Given the description of an element on the screen output the (x, y) to click on. 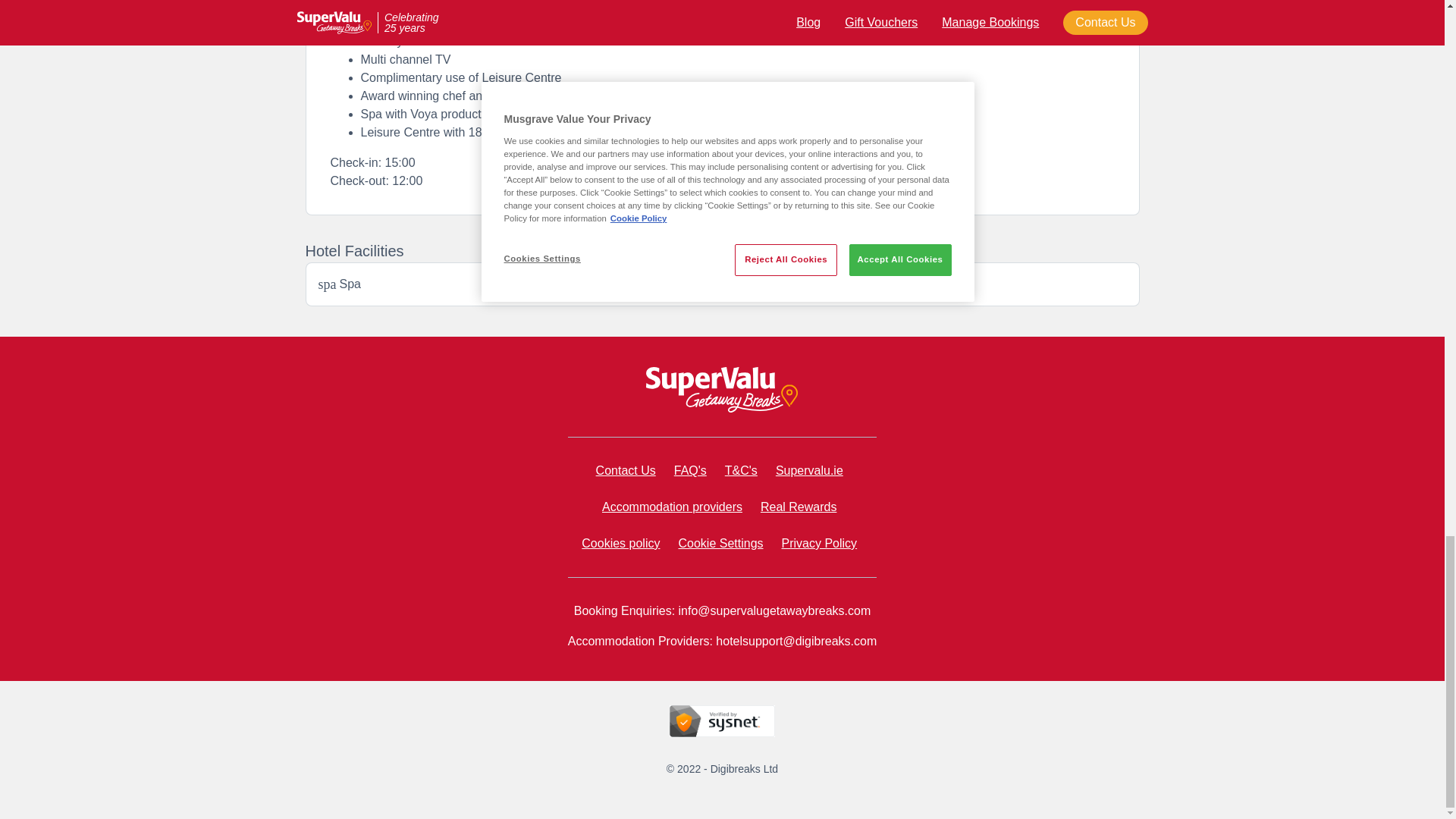
Contact Us (625, 470)
